Given the description of an element on the screen output the (x, y) to click on. 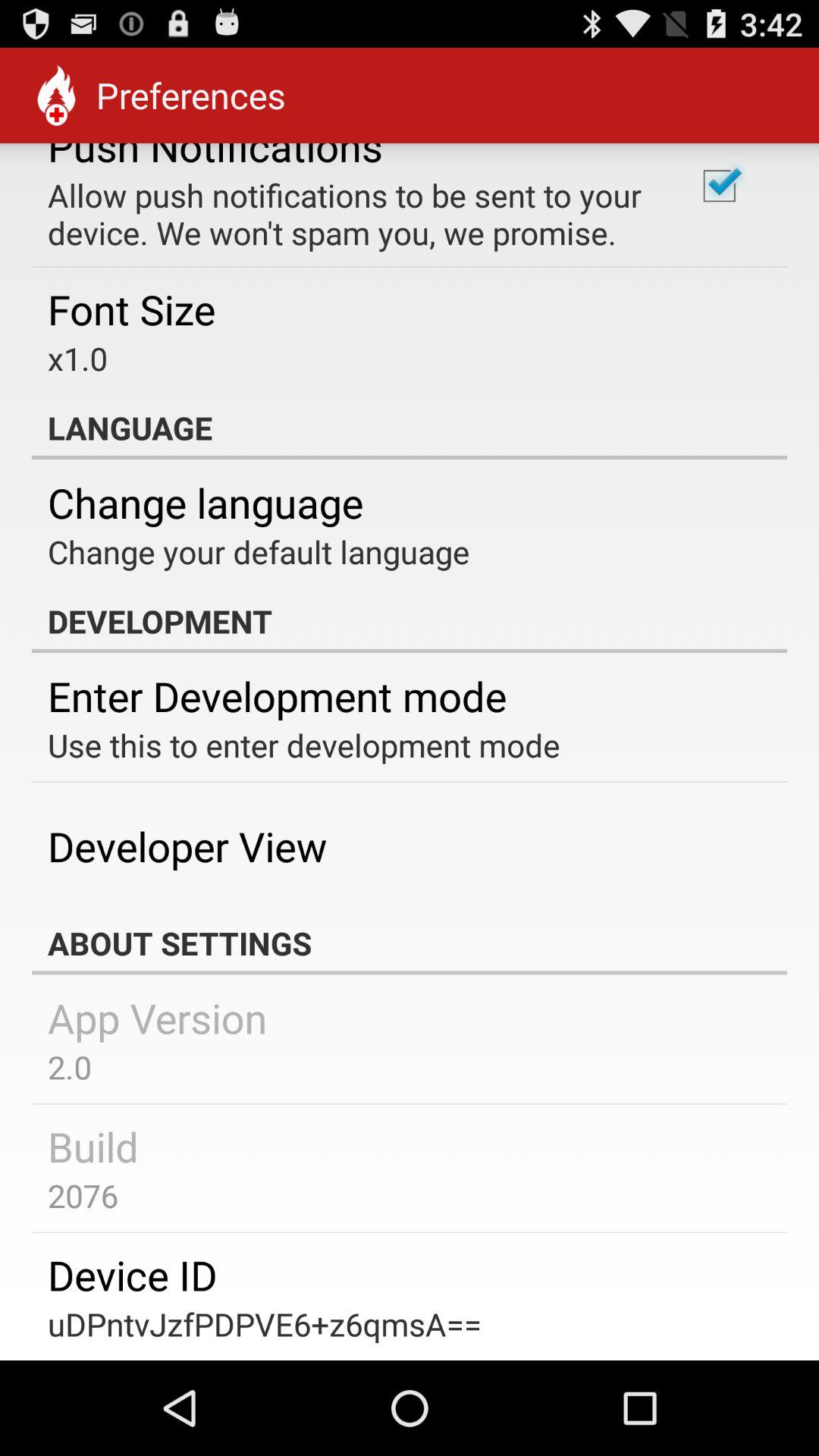
click the icon below 2.0 item (92, 1145)
